Given the description of an element on the screen output the (x, y) to click on. 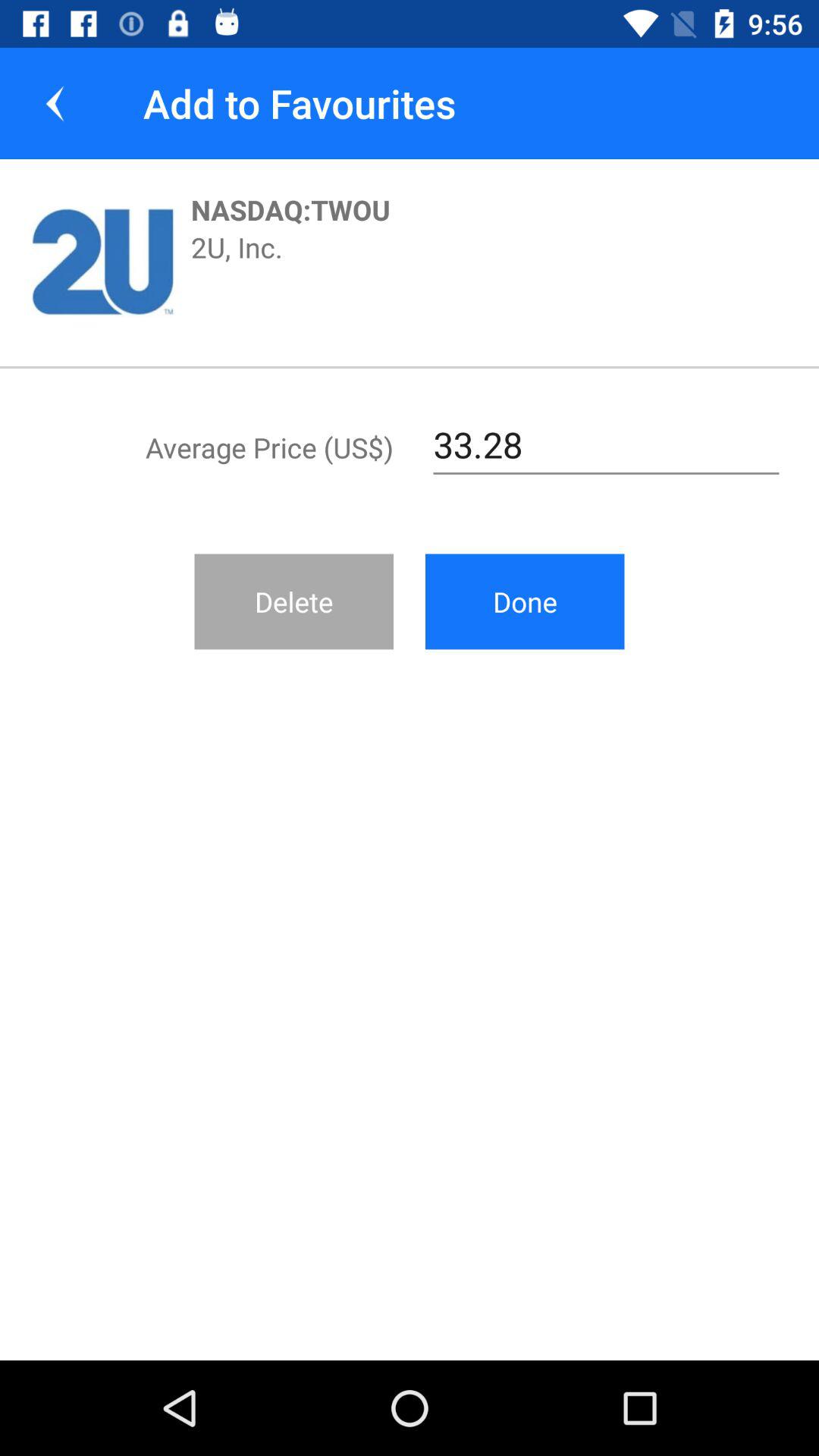
choose icon to the left of the done (293, 601)
